Given the description of an element on the screen output the (x, y) to click on. 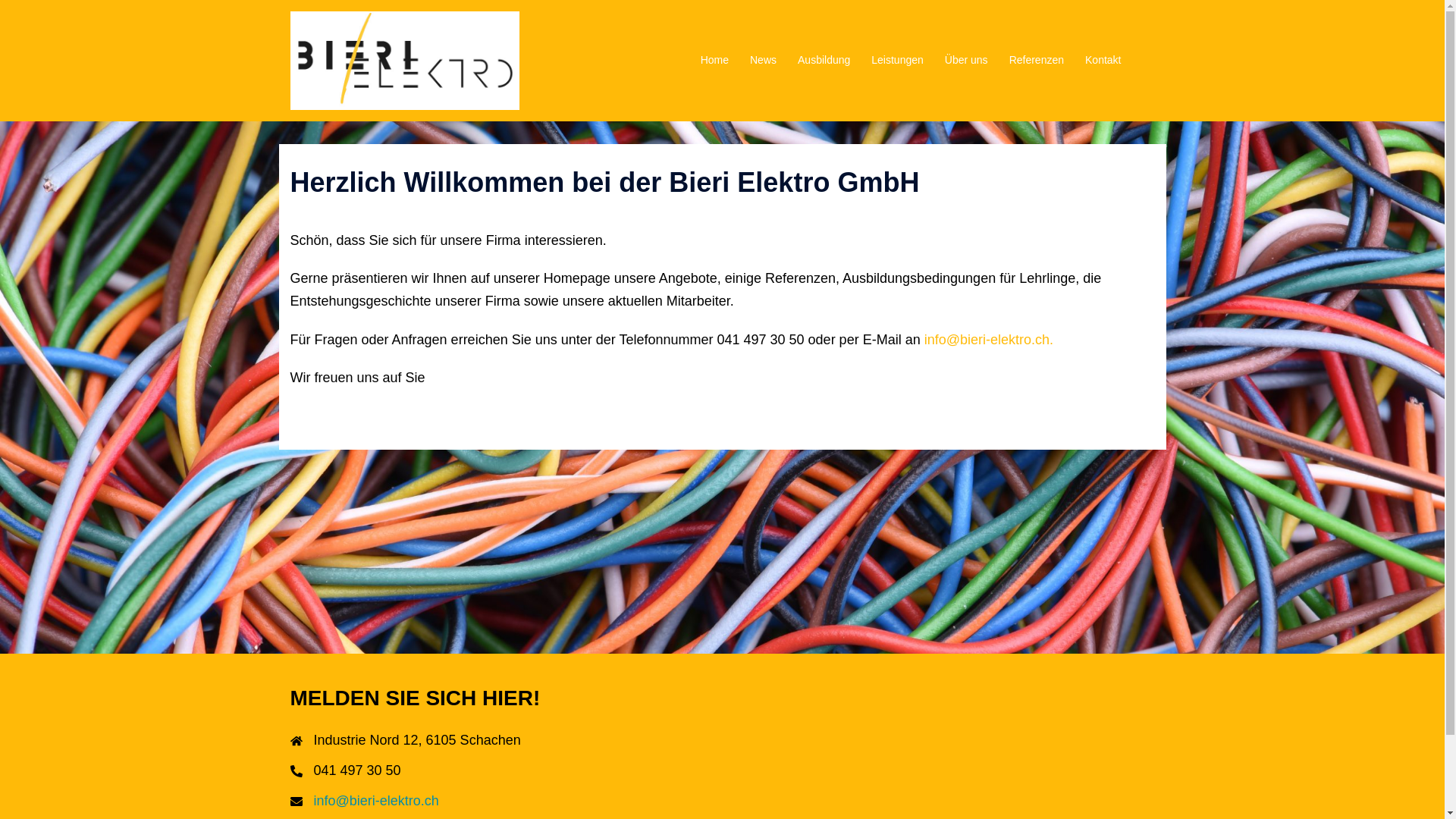
Leistungen Element type: text (897, 60)
Kontakt Element type: text (1102, 60)
info@bieri-elektro.ch Element type: text (376, 800)
News Element type: text (762, 60)
Home Element type: text (714, 60)
Bieri-Elektro Element type: hover (404, 59)
info@bieri-elektro.ch. Element type: text (988, 339)
Ausbildung Element type: text (823, 60)
Referenzen Element type: text (1036, 60)
